Given the description of an element on the screen output the (x, y) to click on. 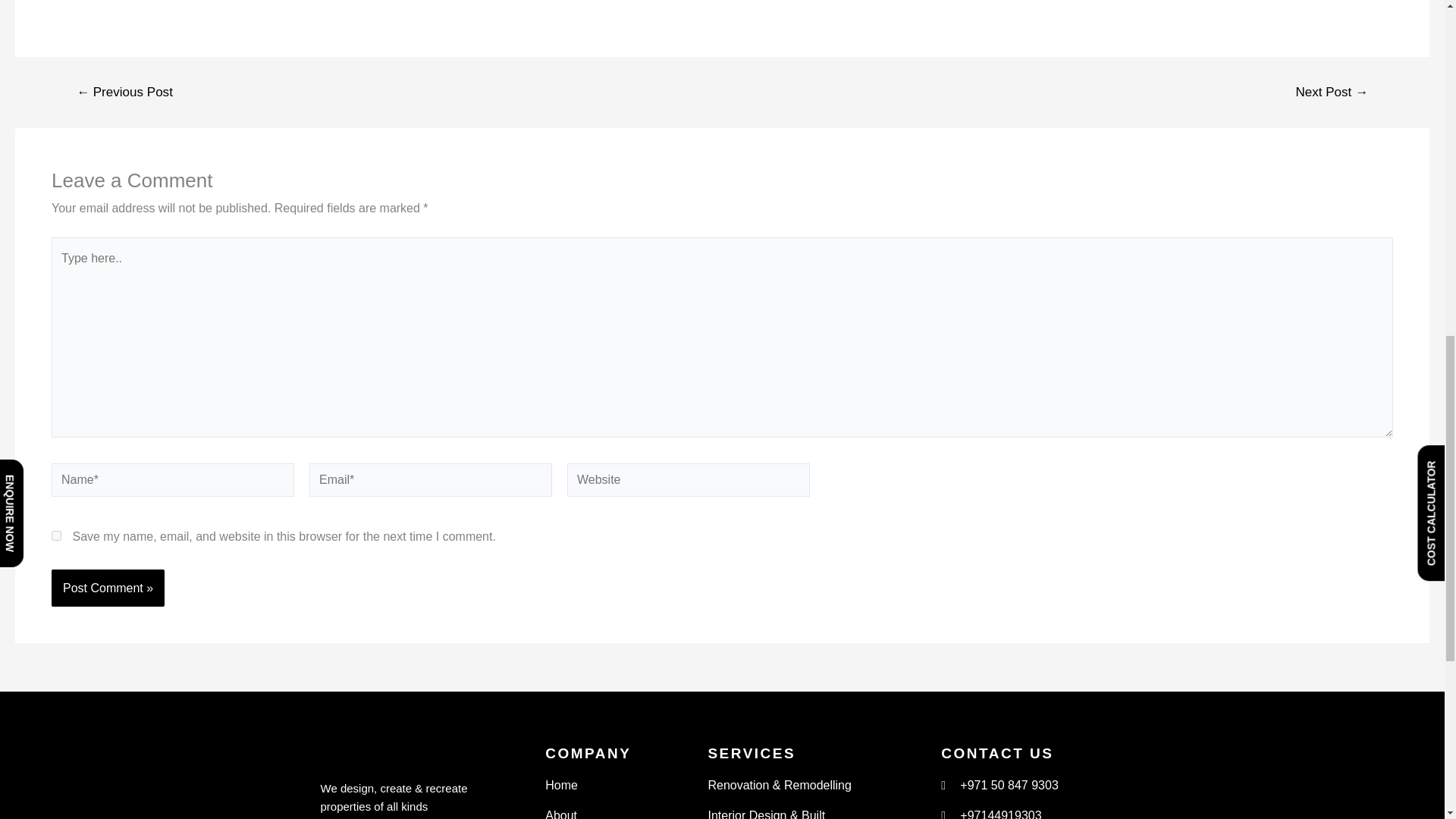
yes (55, 535)
